Given the description of an element on the screen output the (x, y) to click on. 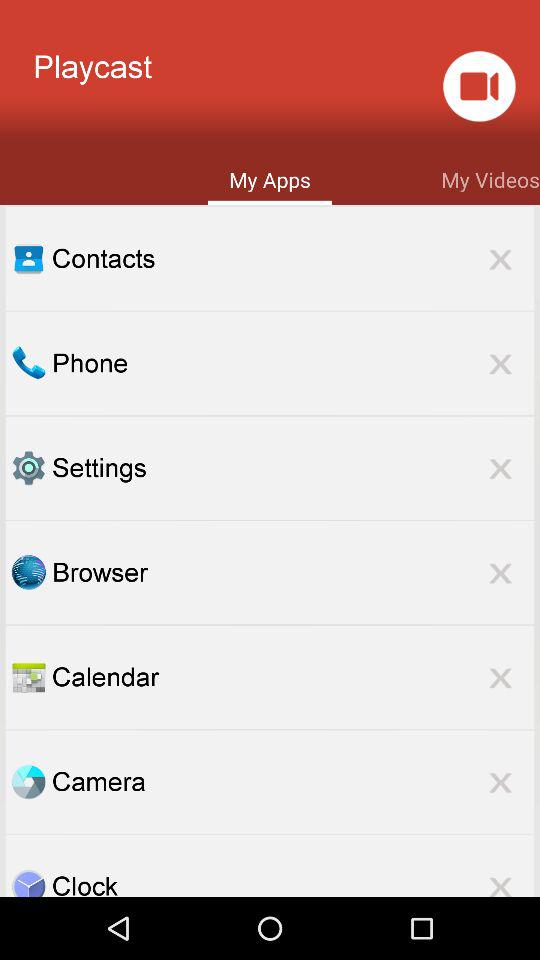
scroll until contacts (293, 258)
